Given the description of an element on the screen output the (x, y) to click on. 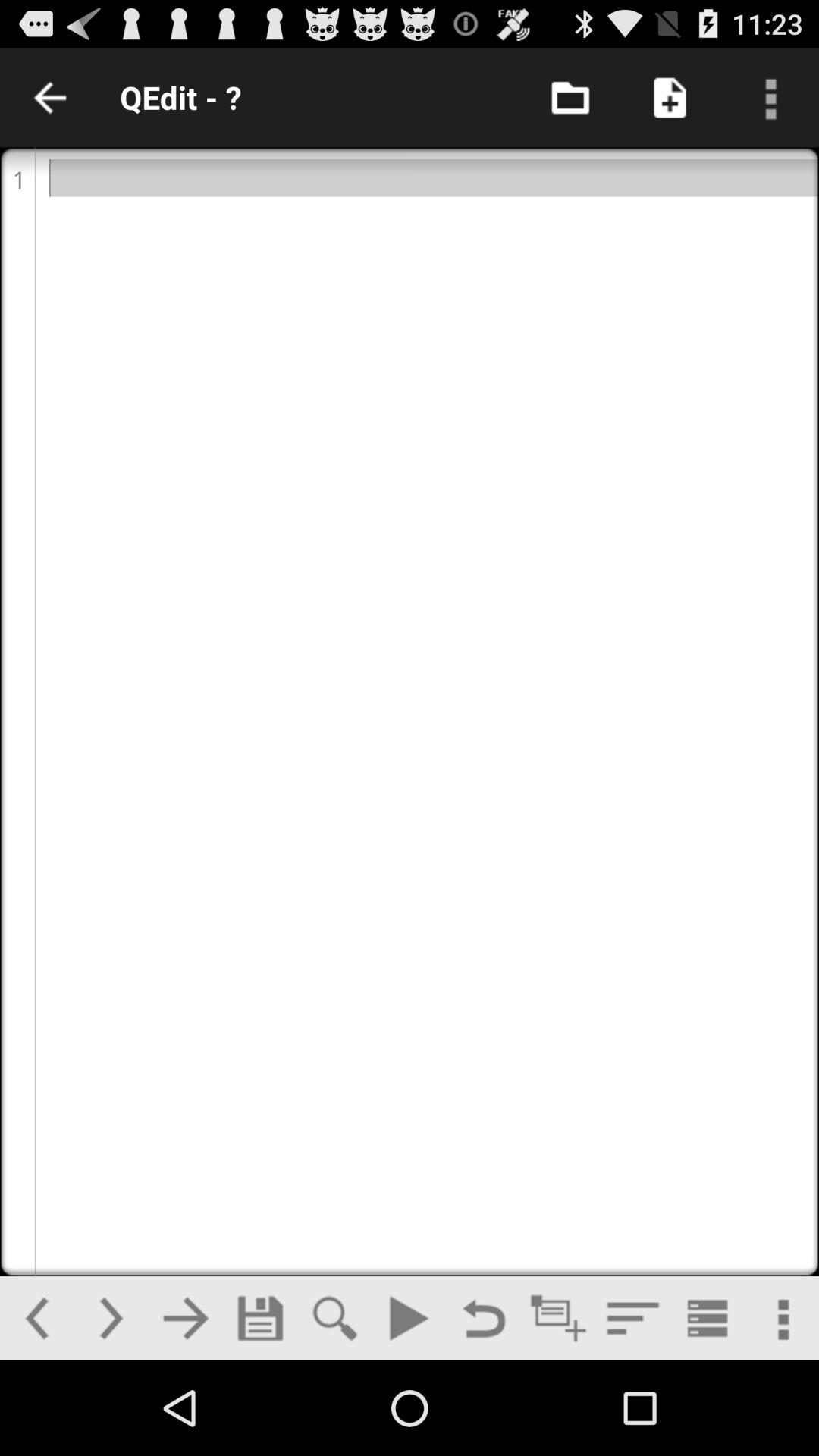
play (408, 1318)
